Given the description of an element on the screen output the (x, y) to click on. 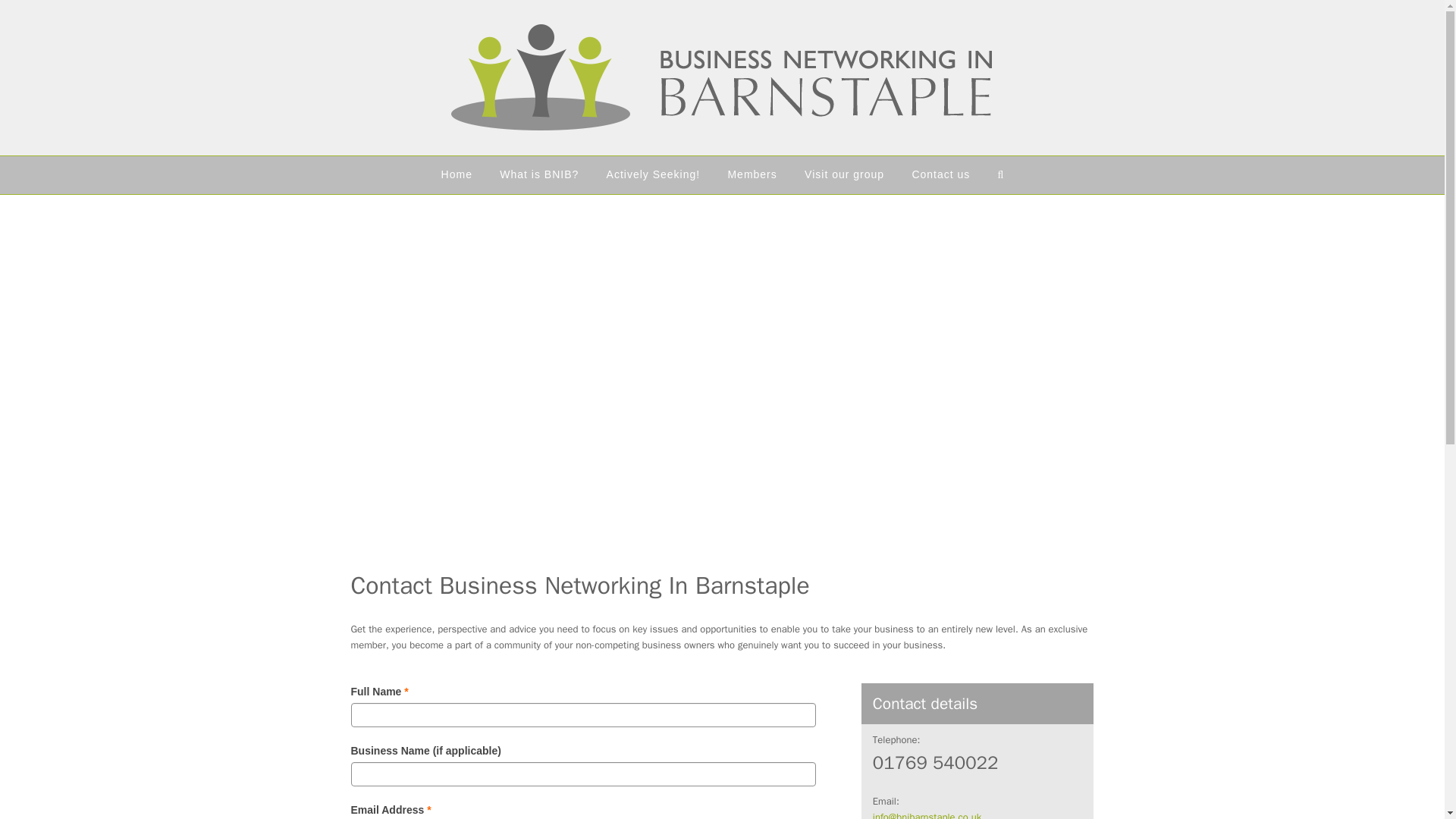
Members (751, 175)
What is BNIB? (539, 175)
Visit our group (844, 175)
Home (456, 175)
Contact us (940, 175)
Actively Seeking! (652, 175)
